Given the description of an element on the screen output the (x, y) to click on. 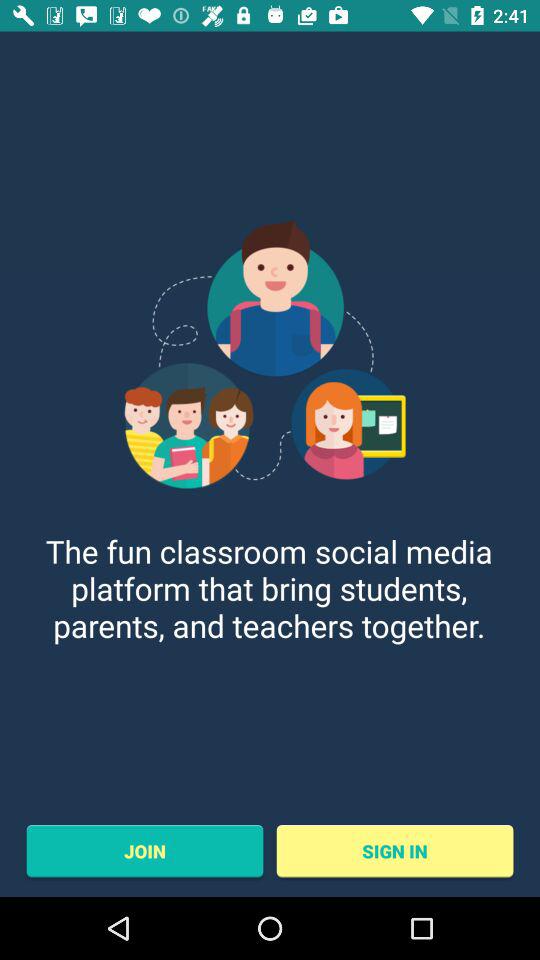
choose icon next to sign in item (144, 851)
